Given the description of an element on the screen output the (x, y) to click on. 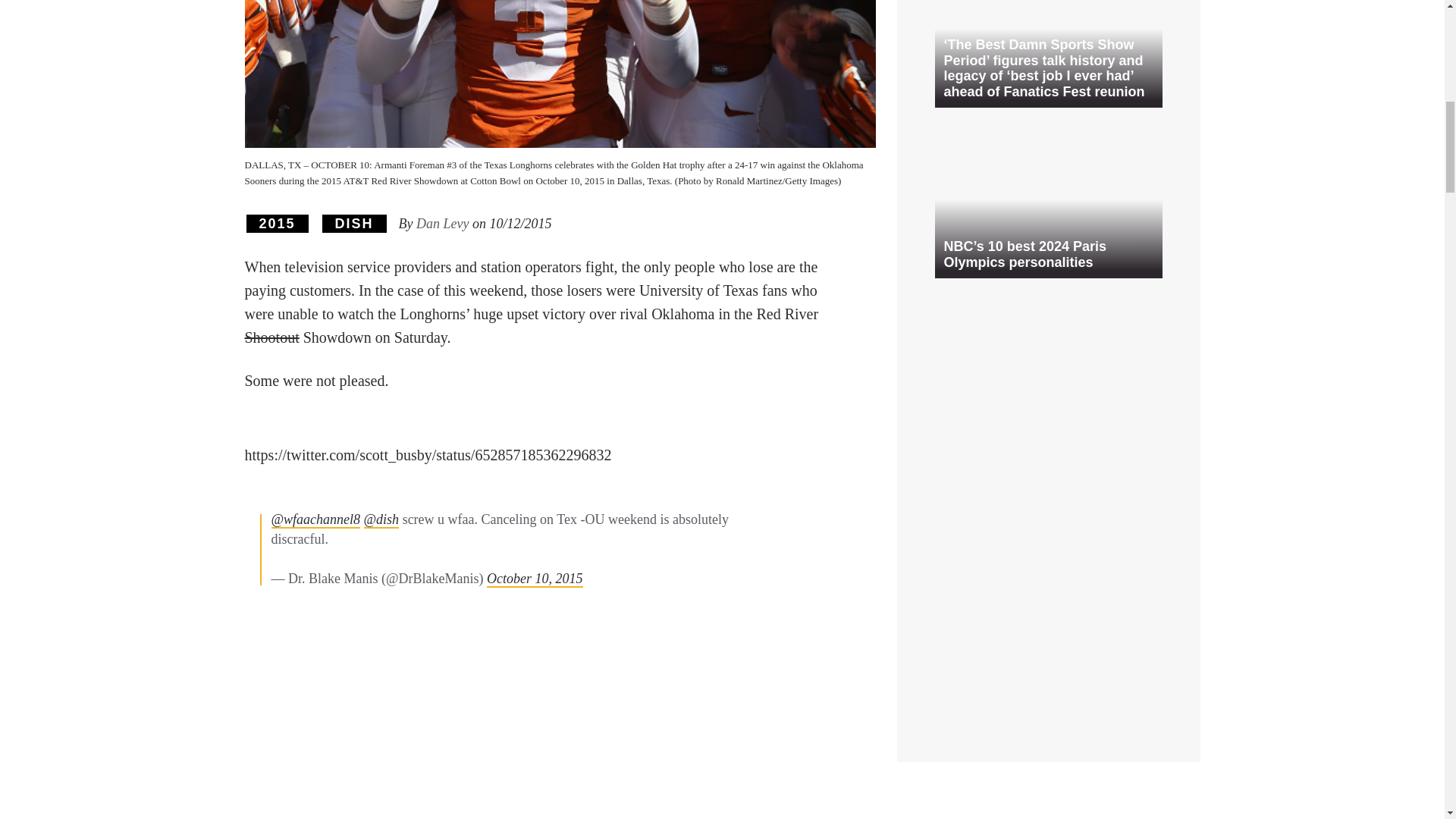
View all posts in Dish (354, 223)
View all posts in 2015 (276, 223)
